Given the description of an element on the screen output the (x, y) to click on. 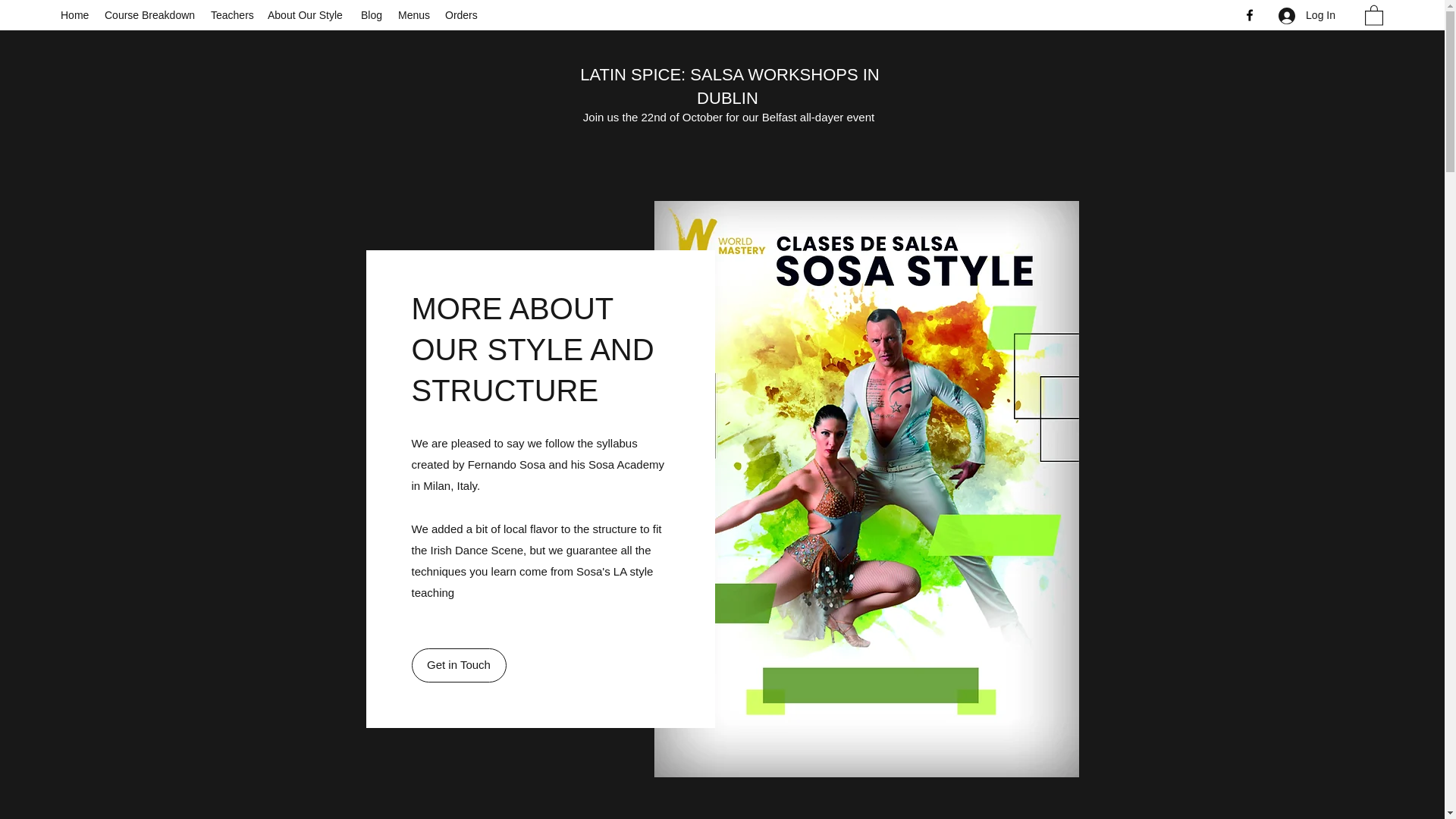
Home (74, 15)
Orders (462, 15)
Course Breakdown (150, 15)
Menus (414, 15)
About Our Style (306, 15)
Get in Touch (457, 665)
LATIN SPICE: SALSA WORKSHOPS IN DUBLIN  (729, 86)
Blog (371, 15)
Teachers (231, 15)
Log In (1306, 15)
